Given the description of an element on the screen output the (x, y) to click on. 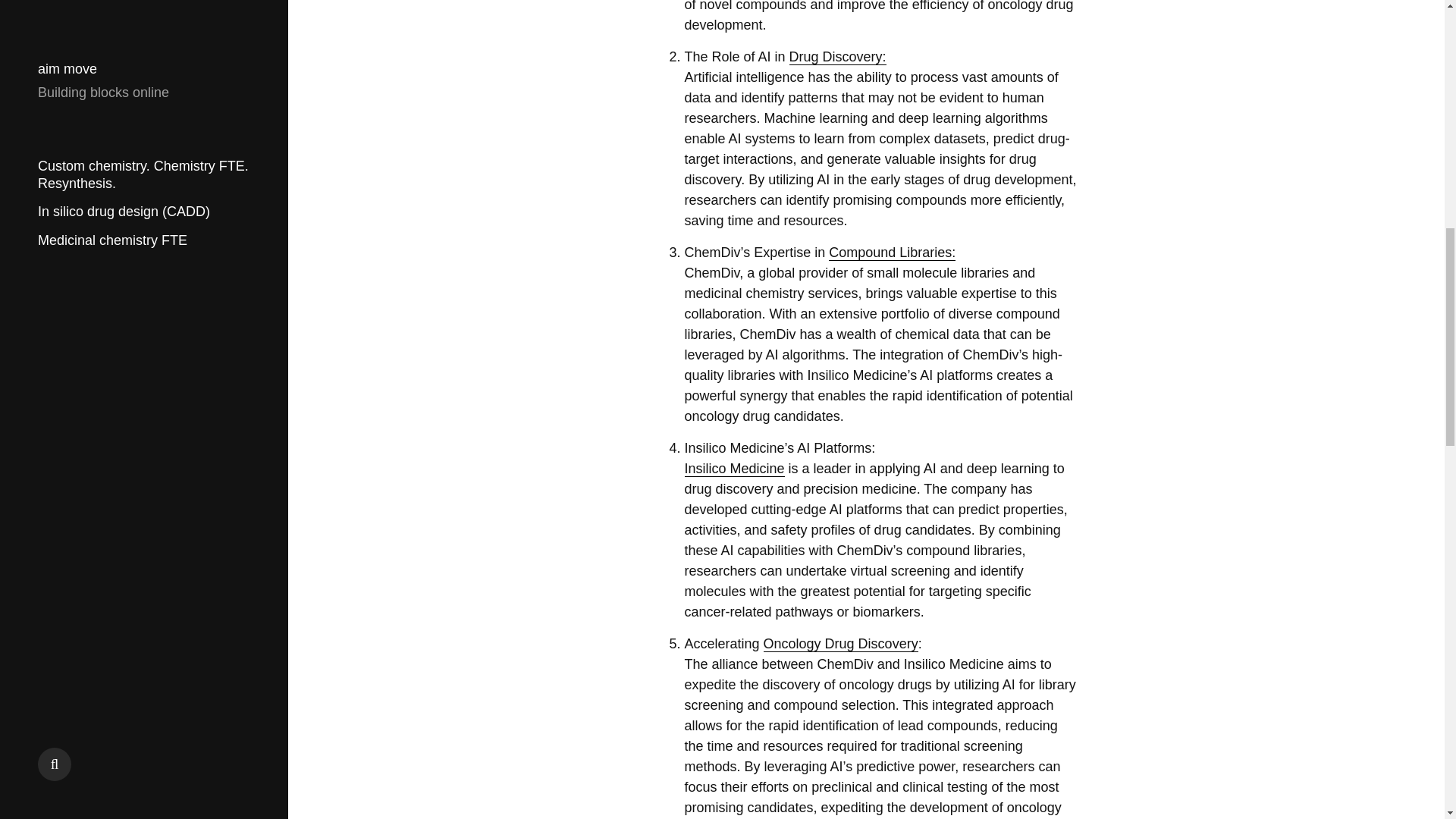
Drug Discovery: (837, 57)
Oncology Drug Discovery (840, 643)
Compound Libraries: (891, 252)
Insilico Medicine (734, 468)
